Given the description of an element on the screen output the (x, y) to click on. 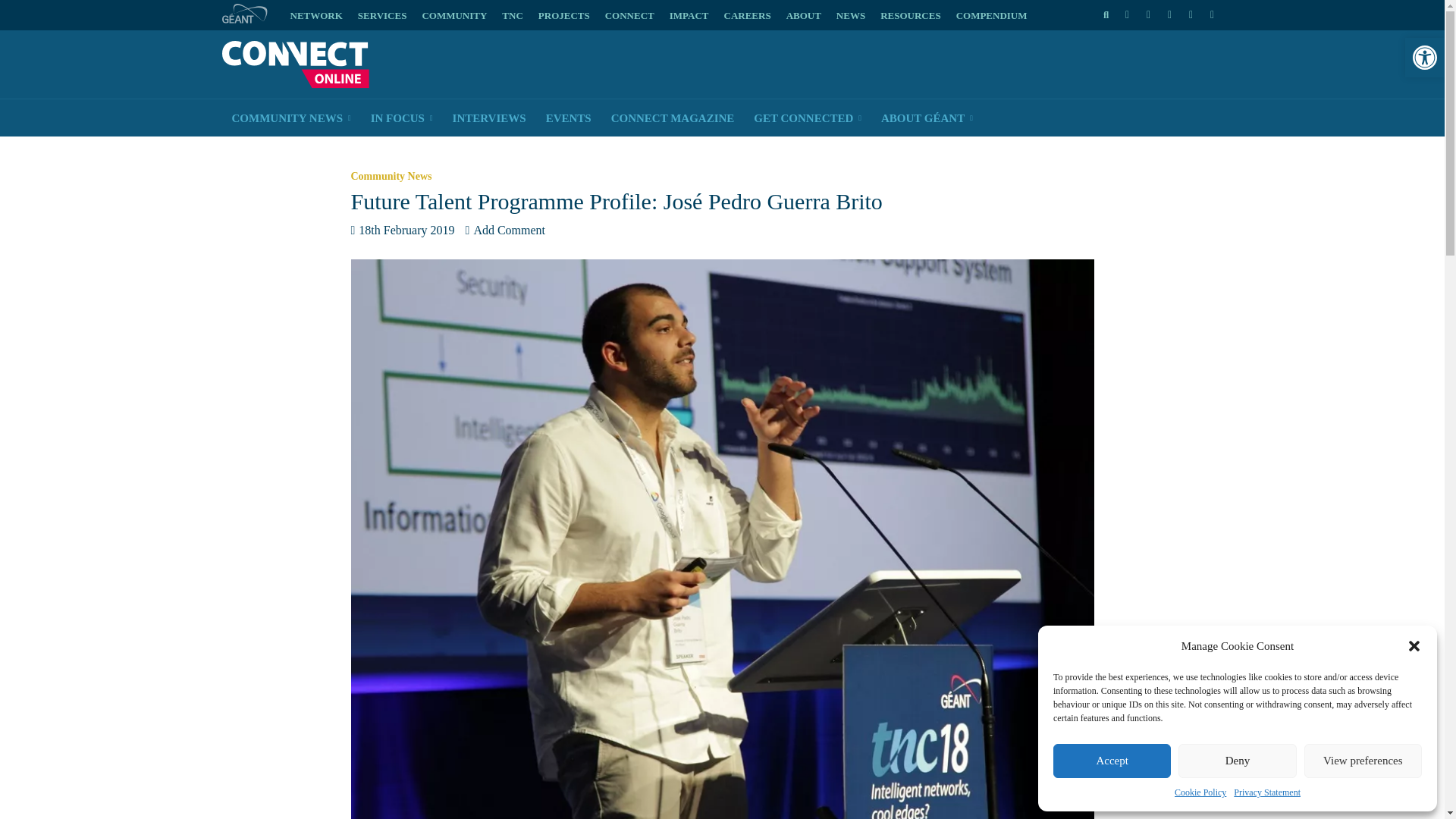
COMMUNITY (454, 15)
IMPACT (689, 15)
SERVICES (382, 15)
COMPENDIUM (992, 15)
TNC (512, 15)
CAREERS (746, 15)
Cookie Policy (1199, 792)
Privacy Statement (1266, 792)
Accessibility Tools (1424, 57)
Deny (1236, 760)
ABOUT (803, 15)
CONNECT (629, 15)
View preferences (1363, 760)
Accept (1111, 760)
NEWS (850, 15)
